Given the description of an element on the screen output the (x, y) to click on. 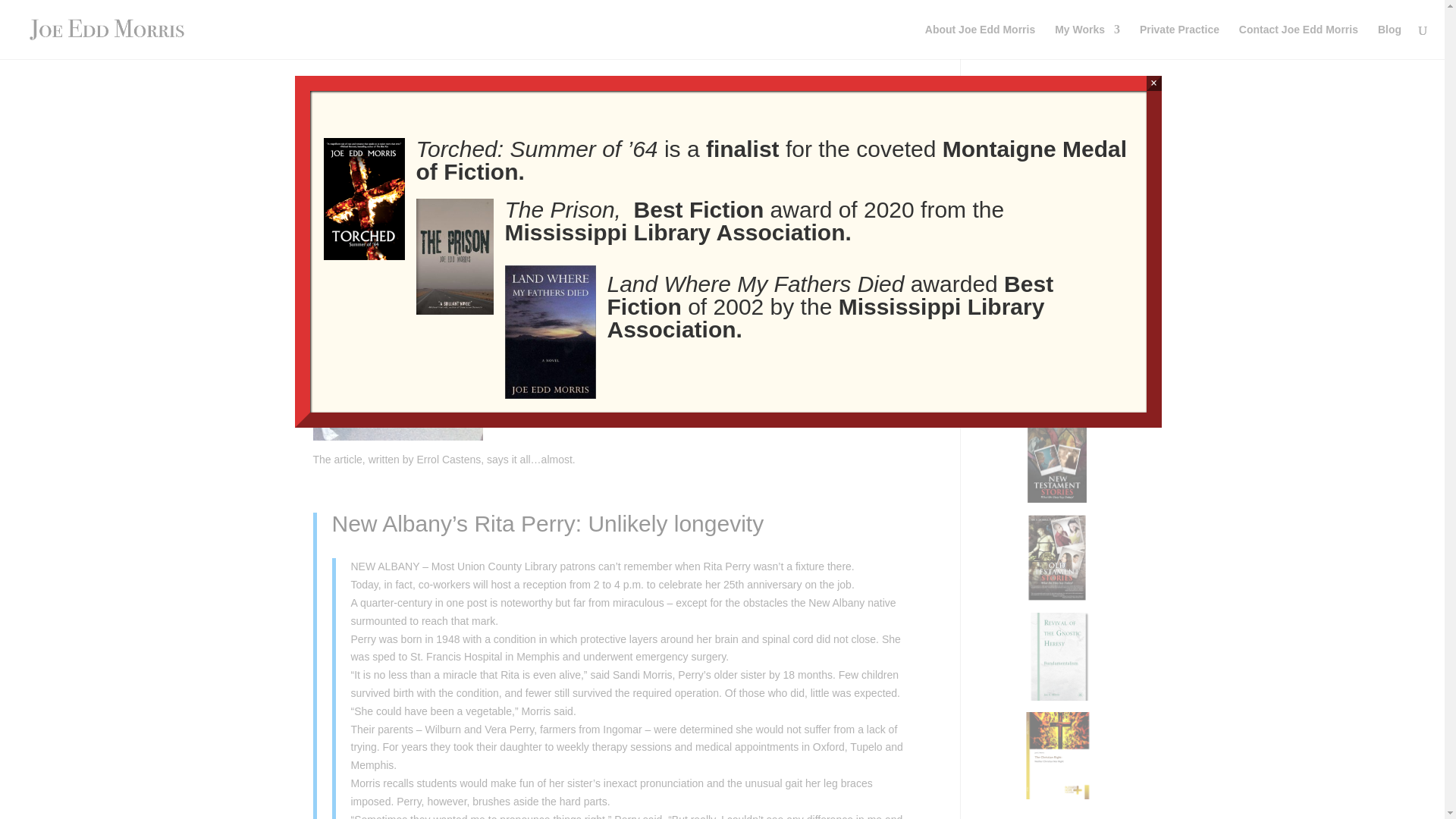
Chavez (1001, 196)
Private Practice (1180, 41)
0 comments (511, 164)
Contact Joe Edd Morris (1298, 41)
Day 11 Katmandu and Nepal (1051, 262)
gcgadmin (349, 164)
Blog (463, 164)
My Works (1086, 41)
Chavez Newsletter June 2017 (1054, 132)
Chavez Quarterly Newsletter December, 2016 (1051, 229)
About Joe Edd Morris (979, 41)
Chavez Newsletter December, 2016 p.2 (1055, 164)
Posts by gcgadmin (349, 164)
